Given the description of an element on the screen output the (x, y) to click on. 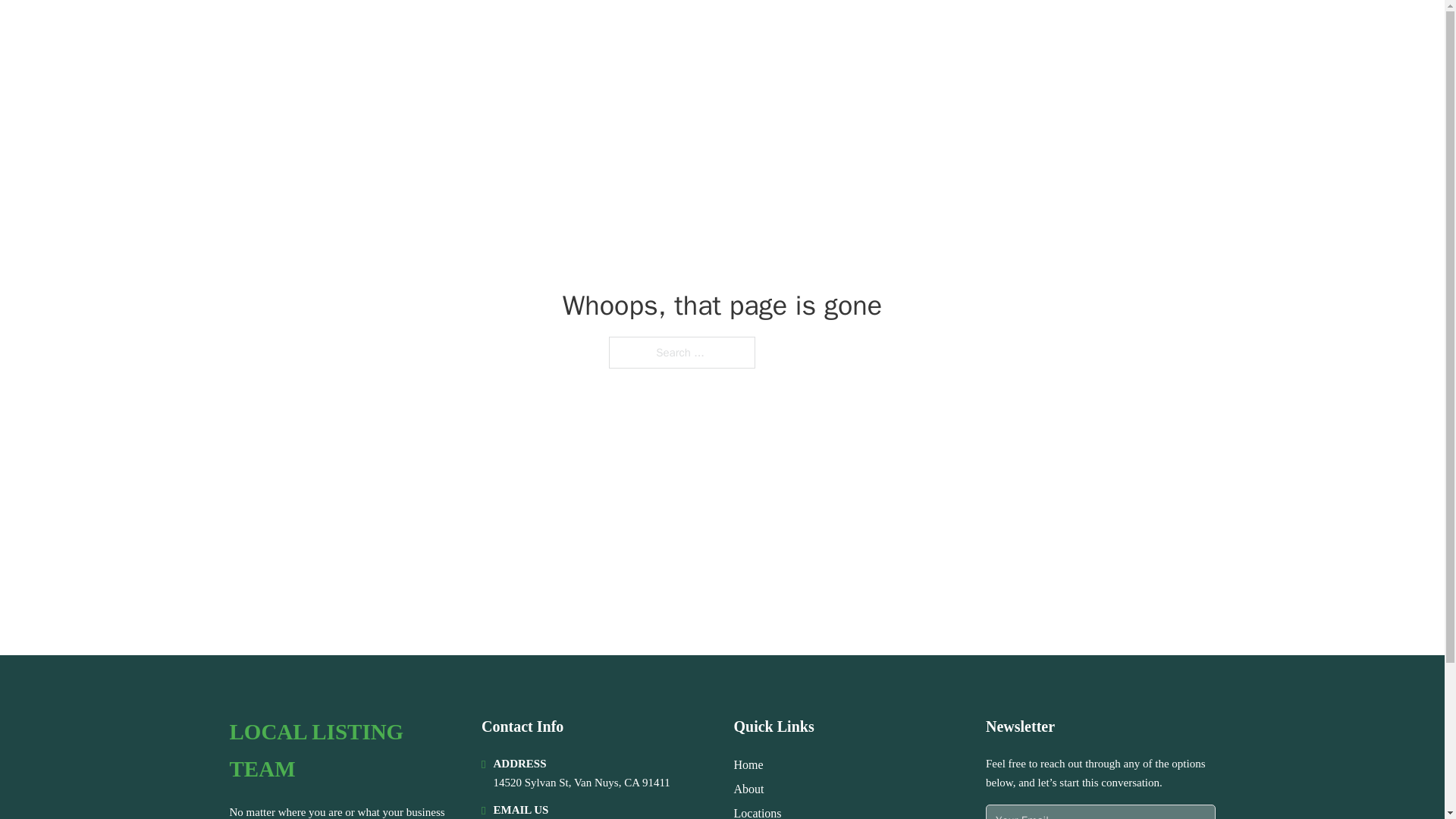
Home (747, 764)
Locations (757, 811)
About (748, 788)
HOME (1002, 31)
LOCAL LISTING TEAM (343, 750)
LOCAL LISTING TEAM (363, 31)
LOCATIONS (1075, 31)
